Given the description of an element on the screen output the (x, y) to click on. 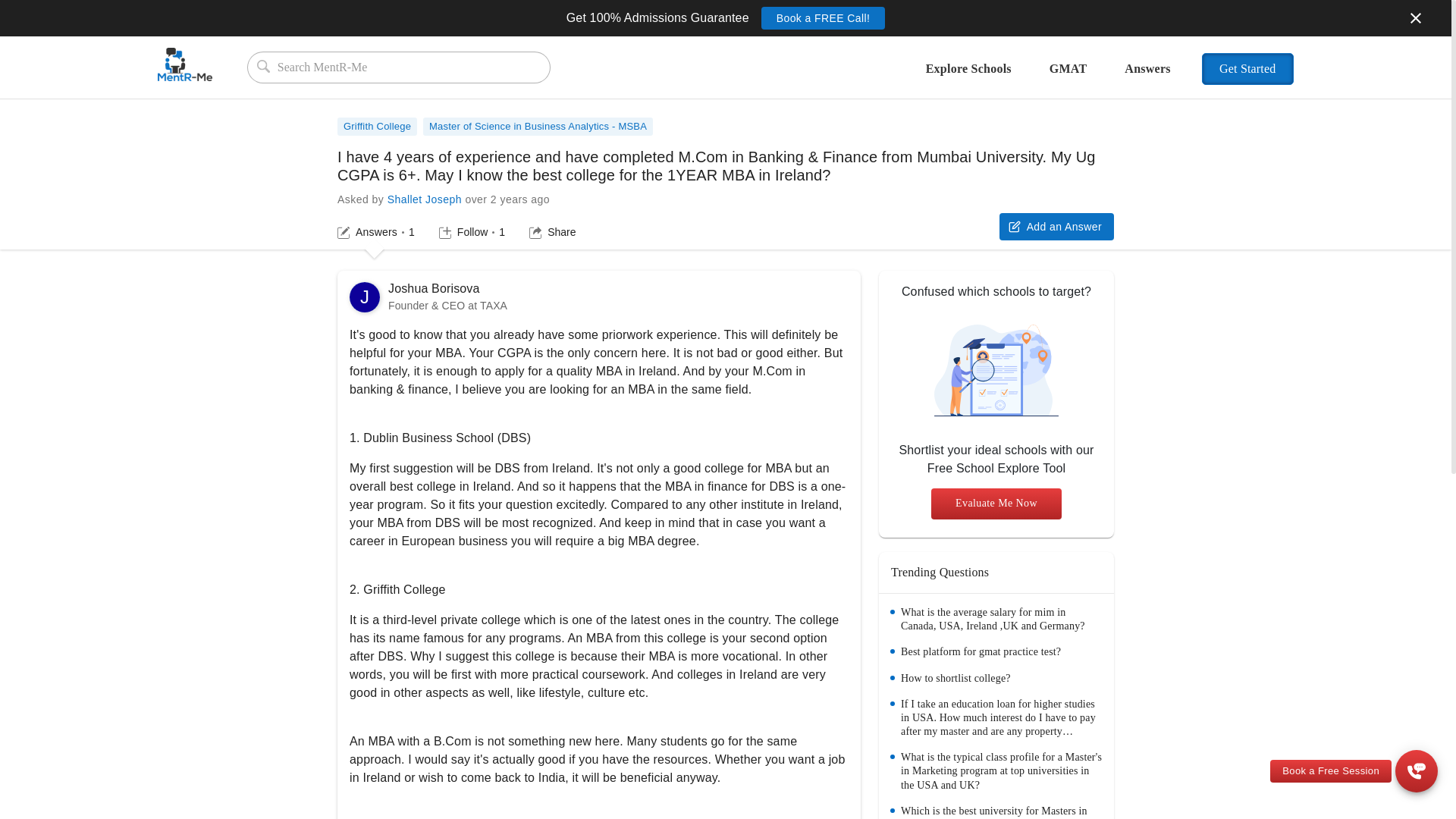
Get Started (1248, 69)
Explore Schools (472, 232)
Evaluate Me Now (968, 76)
Add an Answer (996, 503)
Shallet Joseph (1055, 226)
Joshua Borisova (424, 199)
Griffith College (434, 287)
Griffith College (376, 126)
Share (380, 122)
